Given the description of an element on the screen output the (x, y) to click on. 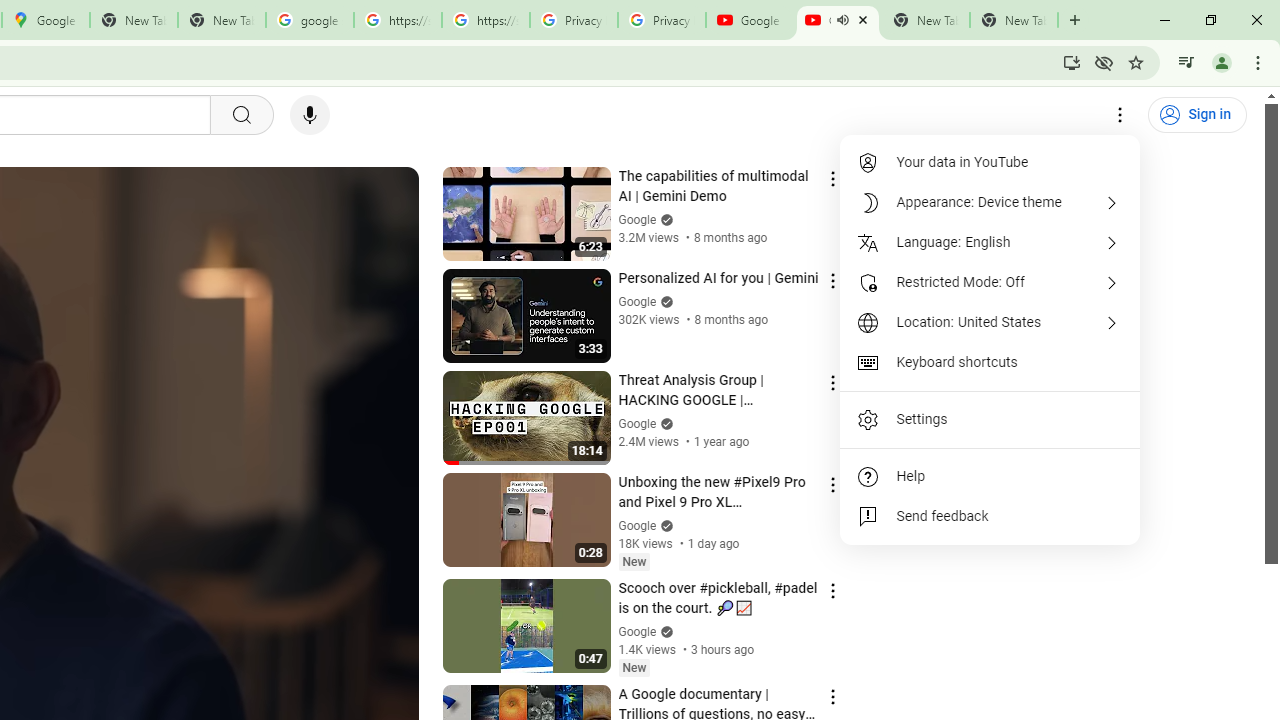
Send feedback (989, 516)
Location: United States (989, 322)
Install YouTube (1071, 62)
Restricted Mode: Off (989, 282)
https://scholar.google.com/ (397, 20)
New Tab (1014, 20)
